Given the description of an element on the screen output the (x, y) to click on. 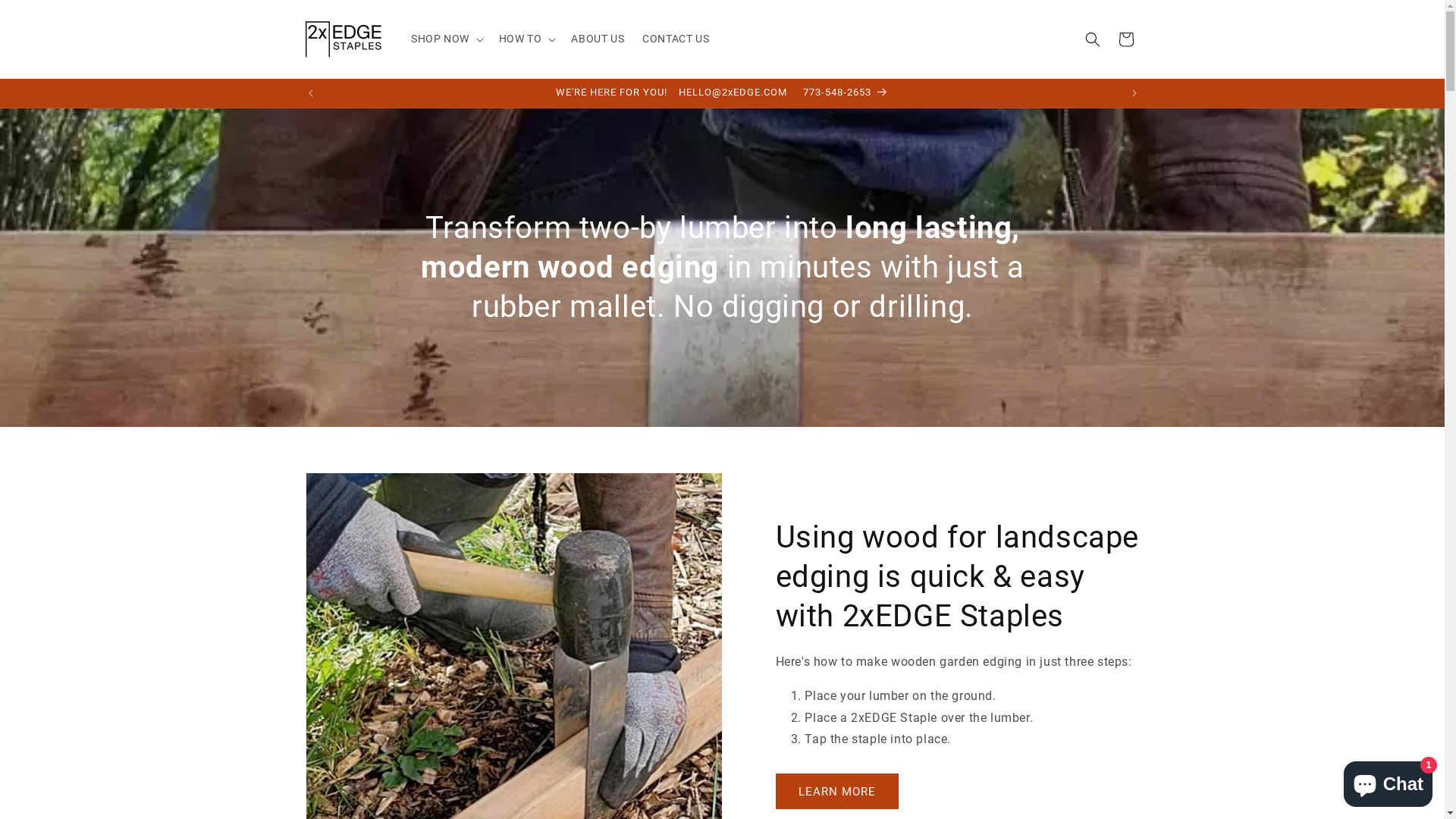
ABOUT US Element type: text (597, 38)
Shopify online store chat Element type: hover (1388, 780)
CONTACT US Element type: text (675, 38)
LEARN MORE Element type: text (836, 791)
Cart Element type: text (1125, 39)
